Given the description of an element on the screen output the (x, y) to click on. 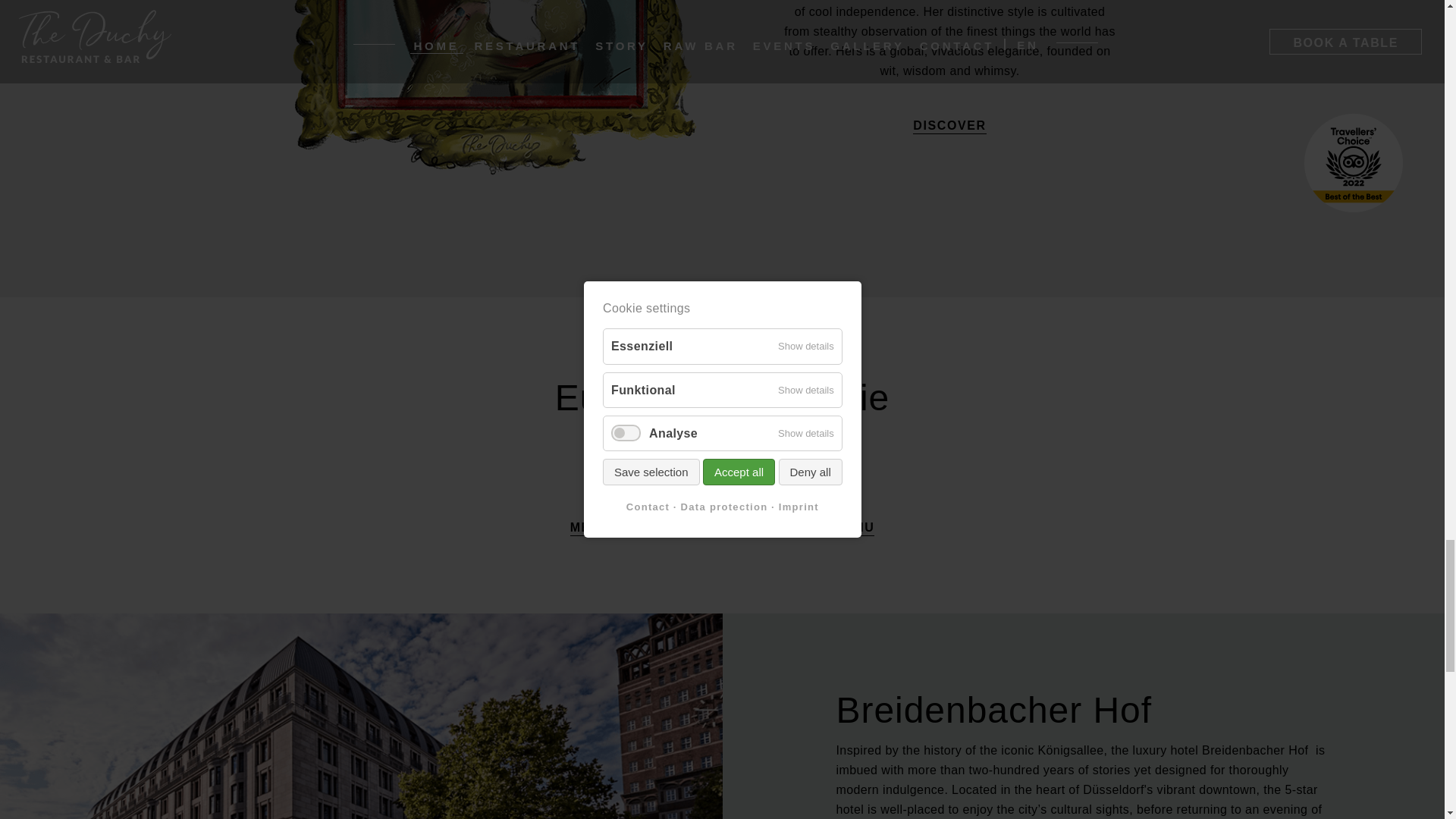
Lunch Specials The Duchy (701, 528)
MENU (590, 528)
DISCOVER (948, 126)
Weinkarte (834, 528)
Menu (590, 528)
